Given the description of an element on the screen output the (x, y) to click on. 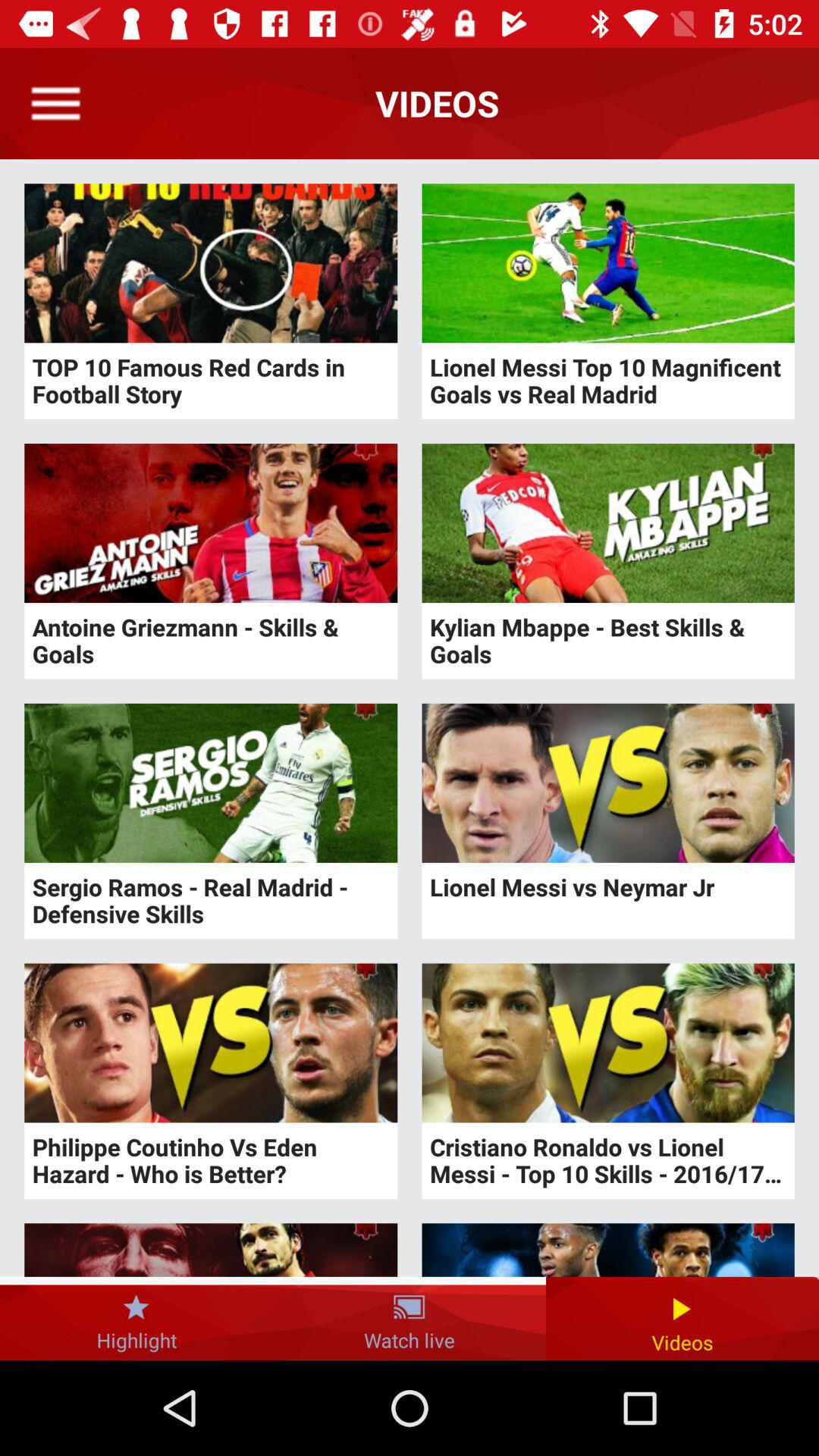
menu options (55, 103)
